Given the description of an element on the screen output the (x, y) to click on. 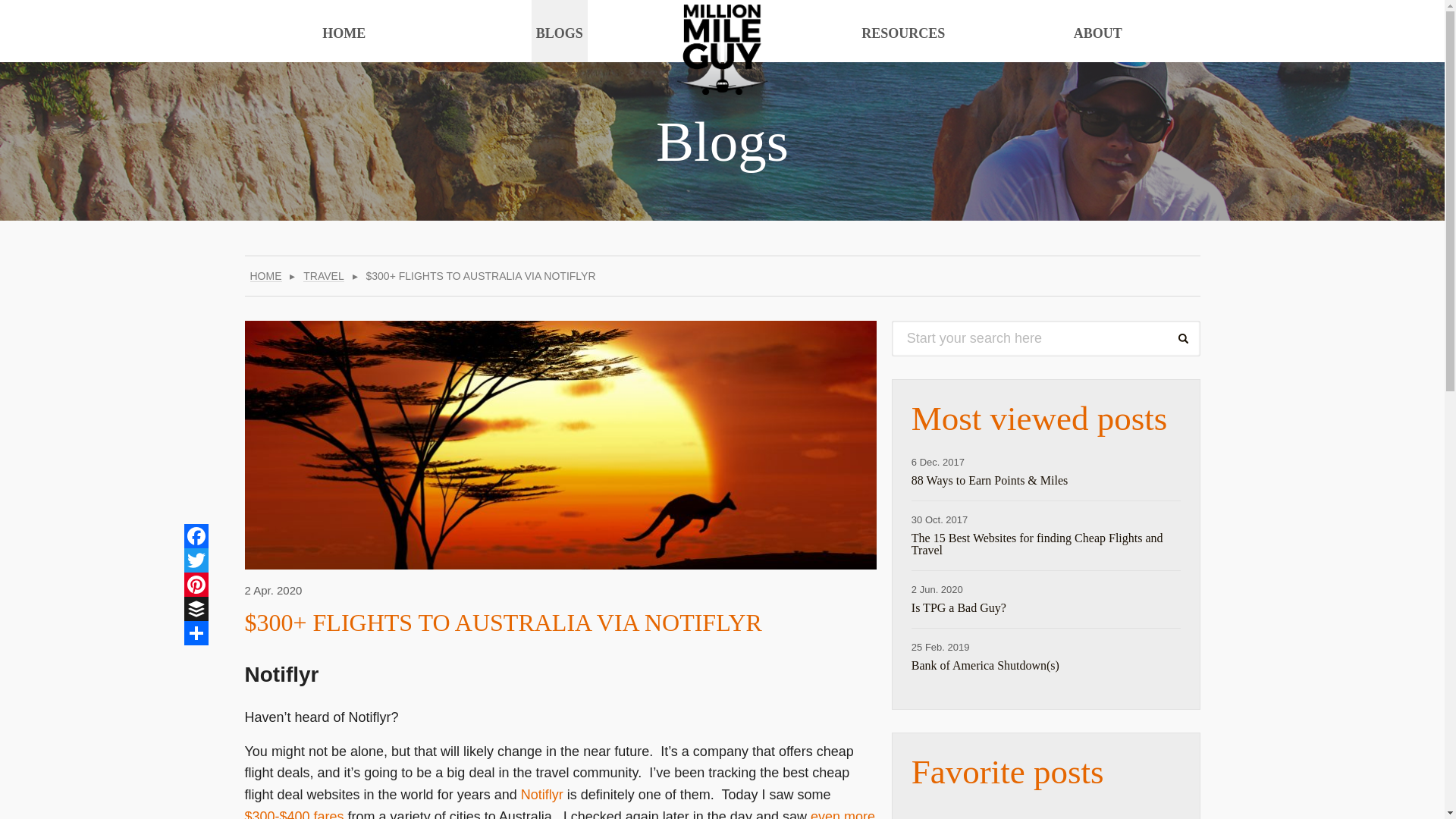
Buffer (195, 608)
Pinterest (195, 584)
even more cities (559, 814)
TRAVEL (322, 276)
HOME (266, 276)
RESOURCES (903, 31)
Facebook (195, 535)
Facebook (195, 535)
Notiflyr (542, 794)
Twitter (195, 559)
